Given the description of an element on the screen output the (x, y) to click on. 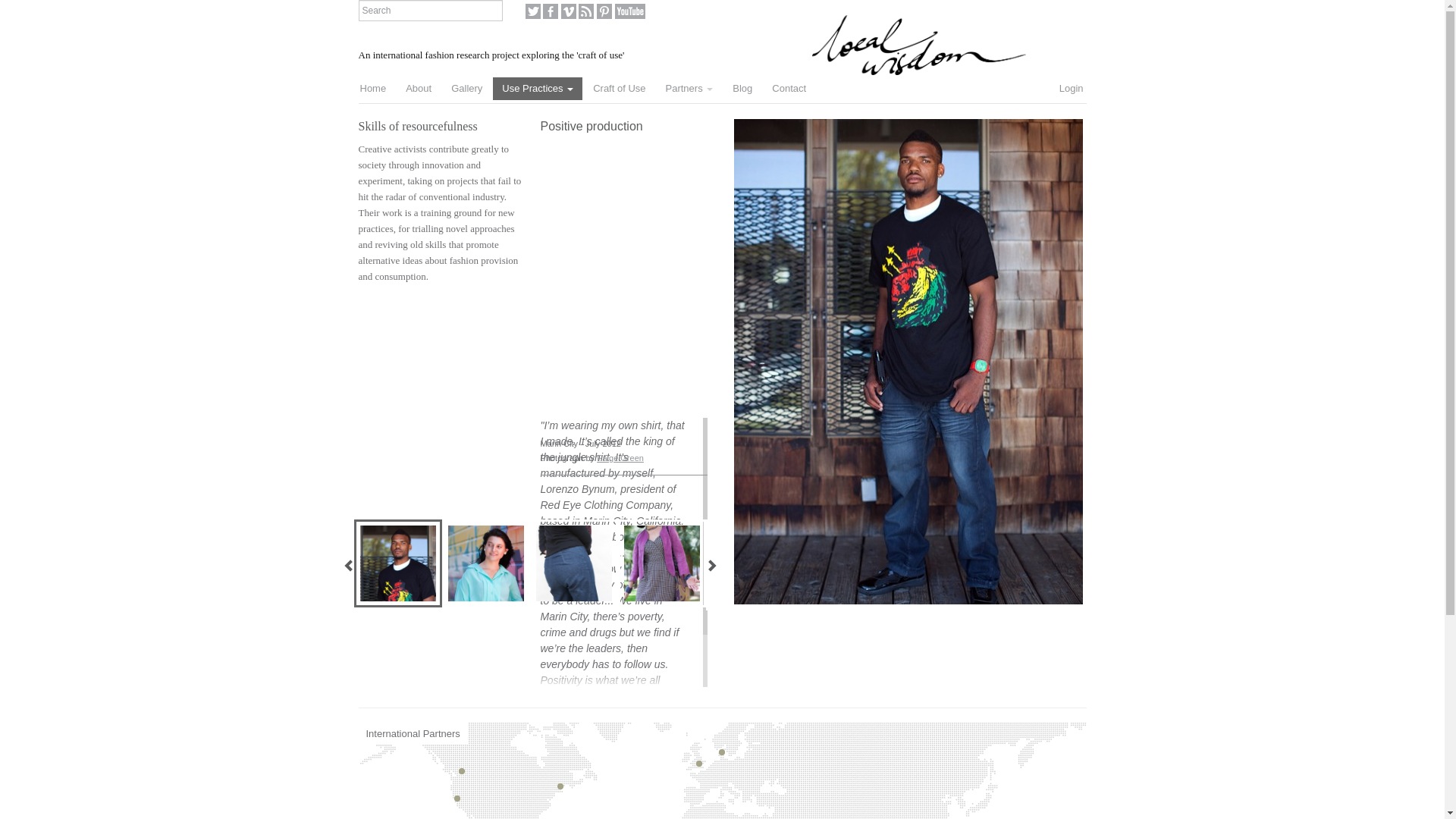
Click for More (484, 563)
Click for More (573, 563)
Search (430, 10)
Partners (689, 87)
Click for More (660, 563)
Click for More (397, 563)
Home (372, 87)
Craft of Use (618, 87)
Click for More (749, 563)
Use Practices (537, 87)
Click for More (308, 563)
About (418, 87)
Gallery (467, 87)
